Given the description of an element on the screen output the (x, y) to click on. 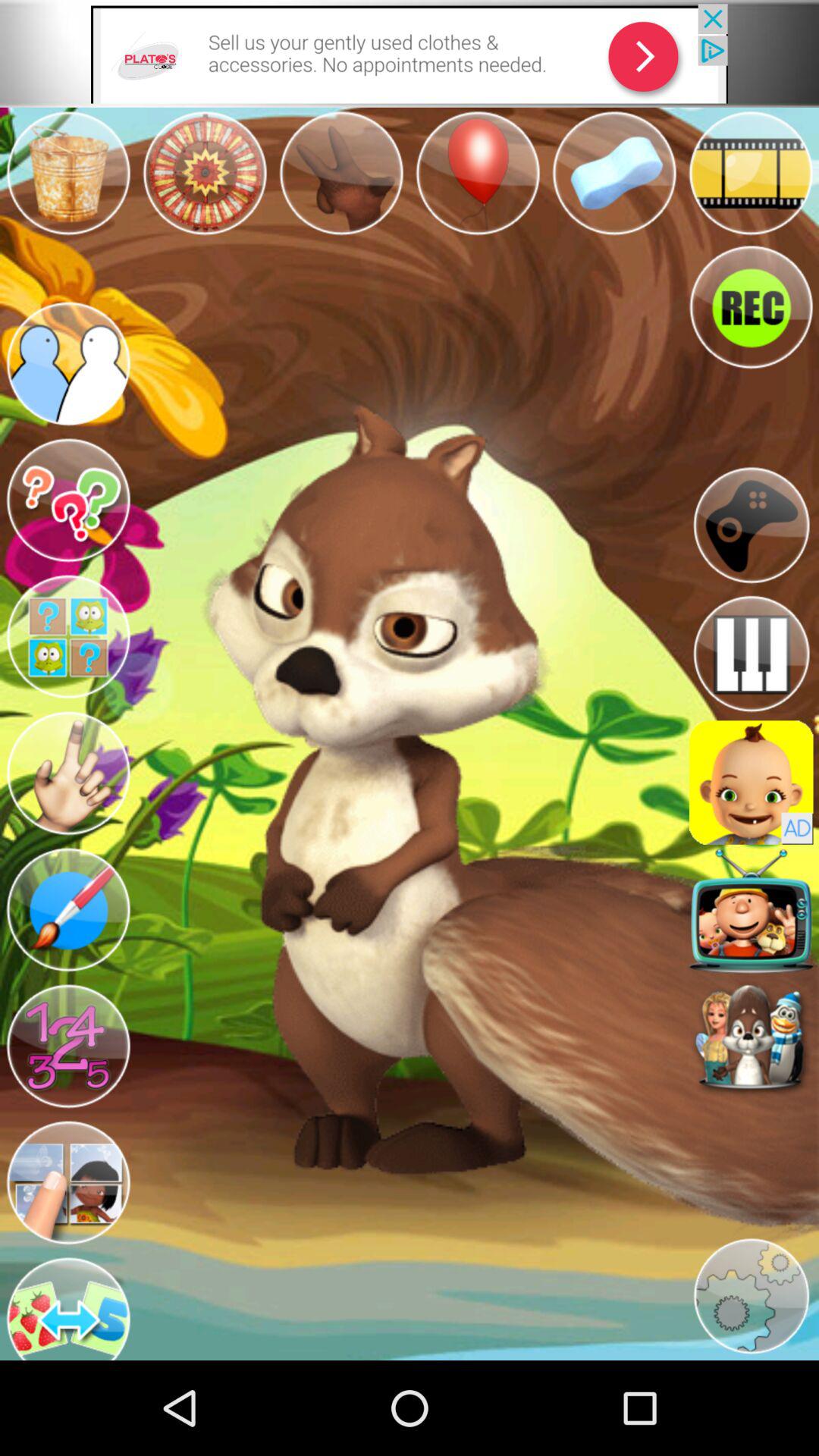
app settings (751, 1296)
